Given the description of an element on the screen output the (x, y) to click on. 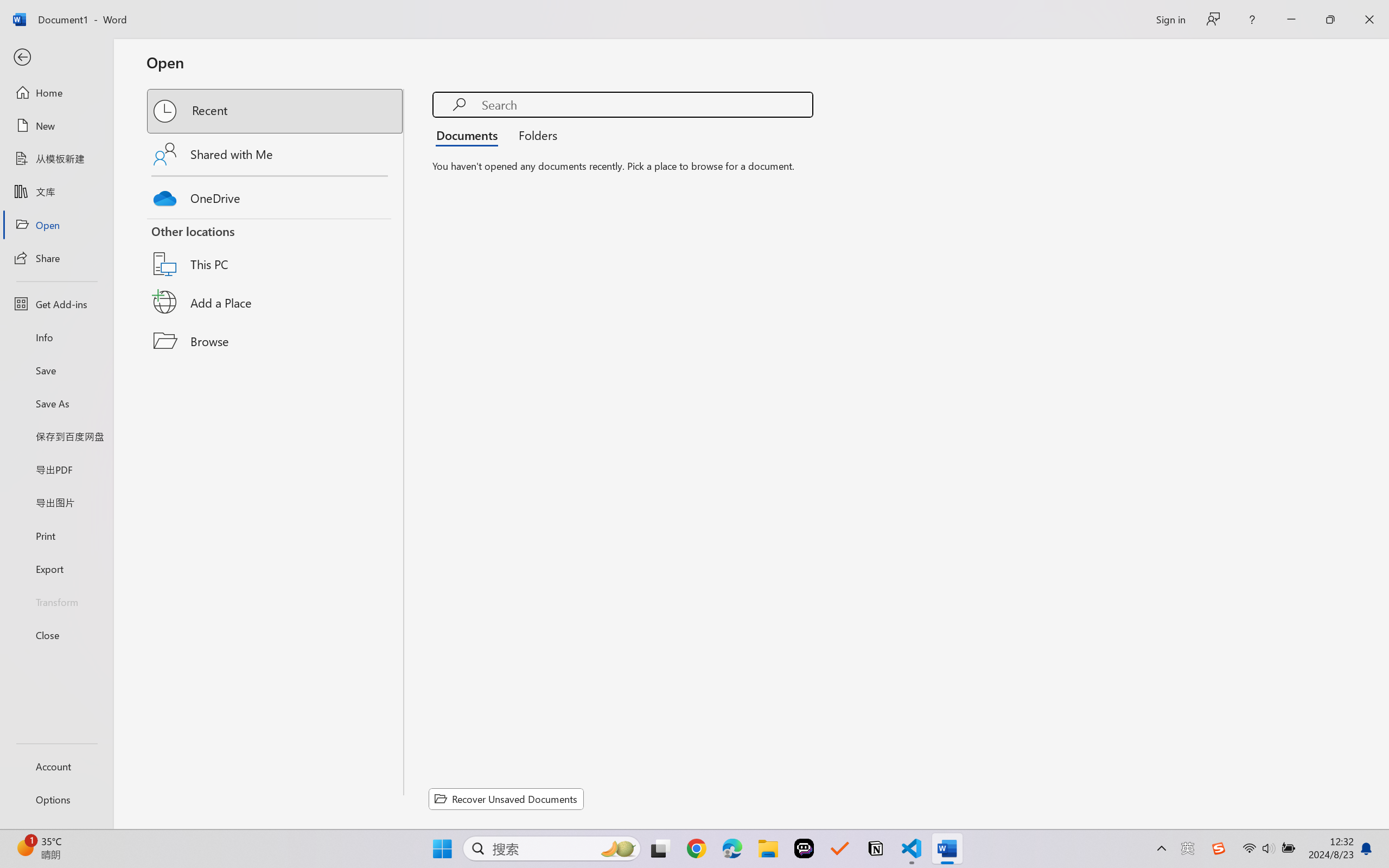
Save As (56, 403)
Print (56, 535)
Folders (534, 134)
Options (56, 798)
New (56, 125)
Recover Unsaved Documents (506, 798)
Info (56, 337)
